Given the description of an element on the screen output the (x, y) to click on. 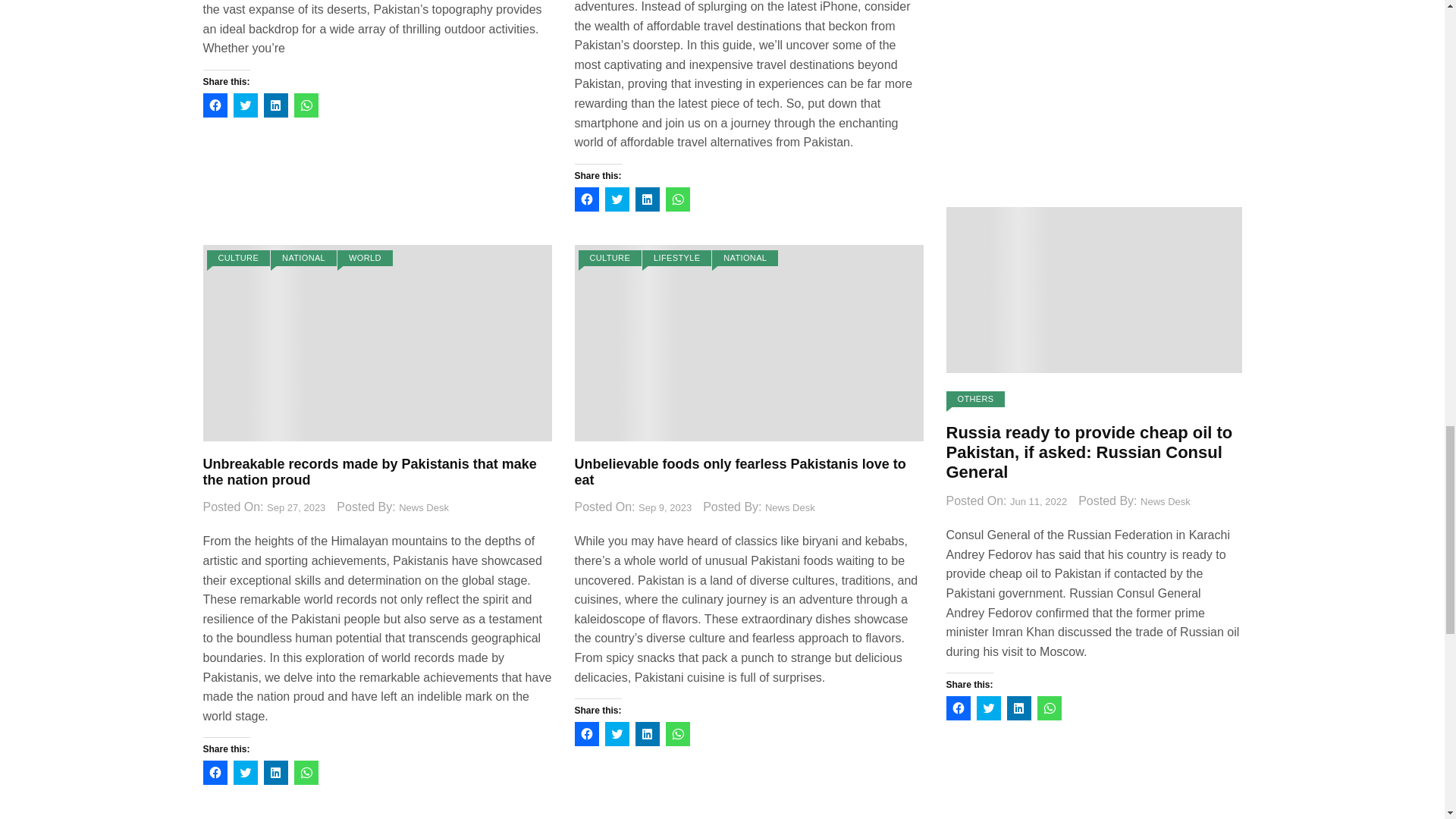
Click to share on Twitter (244, 105)
Click to share on WhatsApp (306, 105)
Click to share on LinkedIn (275, 105)
Click to share on Facebook (215, 105)
